Given the description of an element on the screen output the (x, y) to click on. 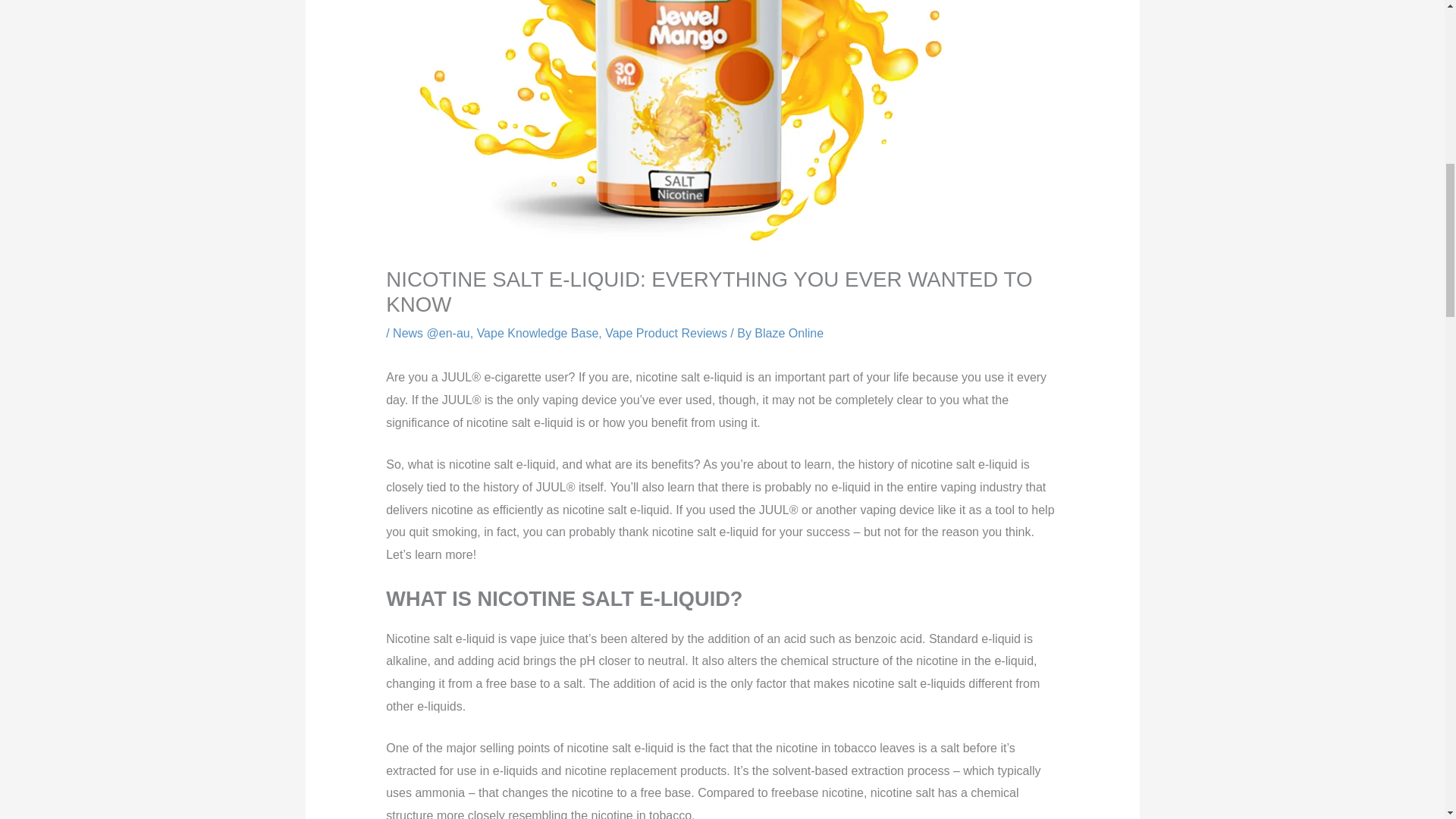
View all posts by Blaze Online (789, 332)
